Given the description of an element on the screen output the (x, y) to click on. 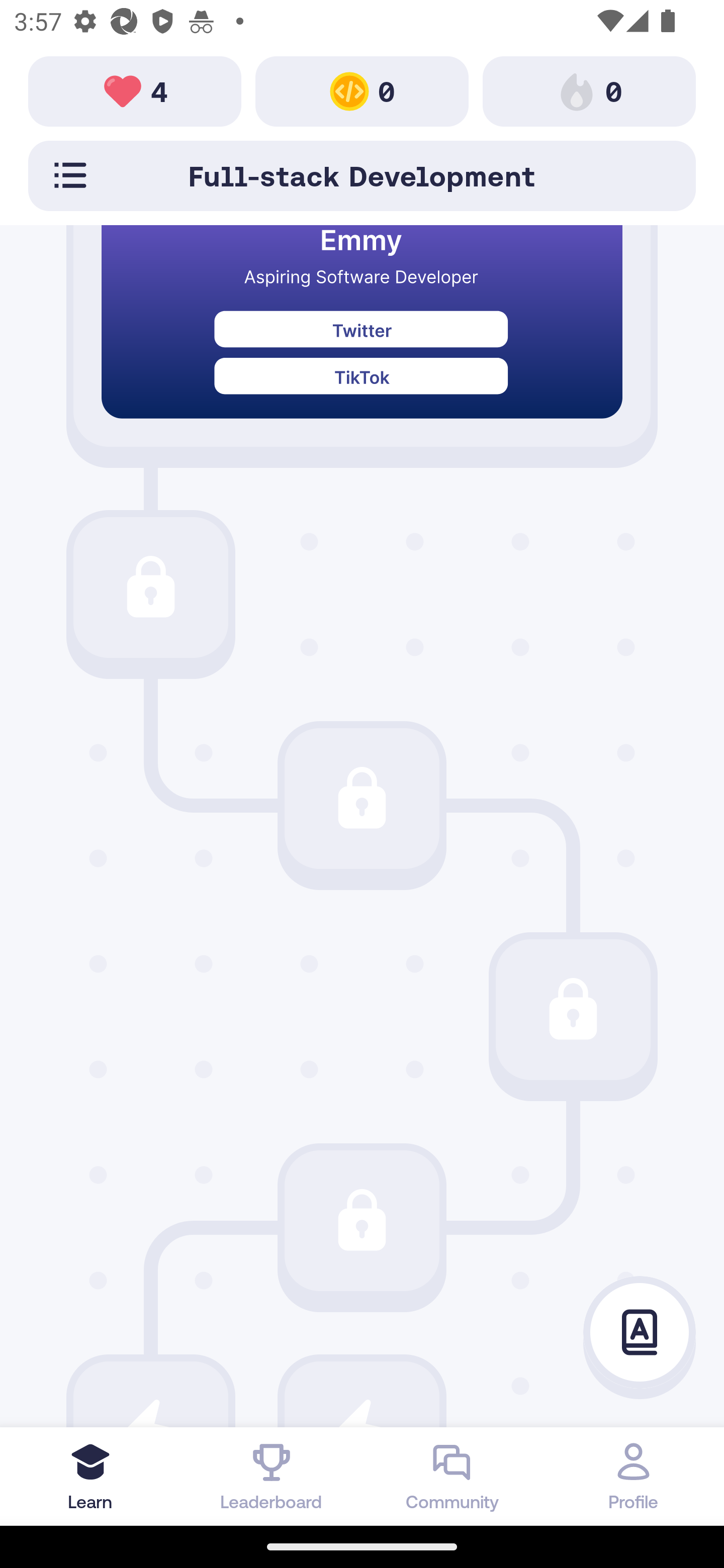
Path Toolbar Image 4 (134, 90)
Path Toolbar Image 0 (361, 90)
Path Toolbar Image 0 (588, 90)
Path Toolbar Selector Full-stack Development (361, 175)
preview image (361, 335)
Path Icon (150, 587)
Path Icon (361, 797)
Path Icon (572, 1009)
Path Icon (361, 1220)
Glossary Icon (639, 1332)
Leaderboard (271, 1475)
Community (452, 1475)
Profile (633, 1475)
